Given the description of an element on the screen output the (x, y) to click on. 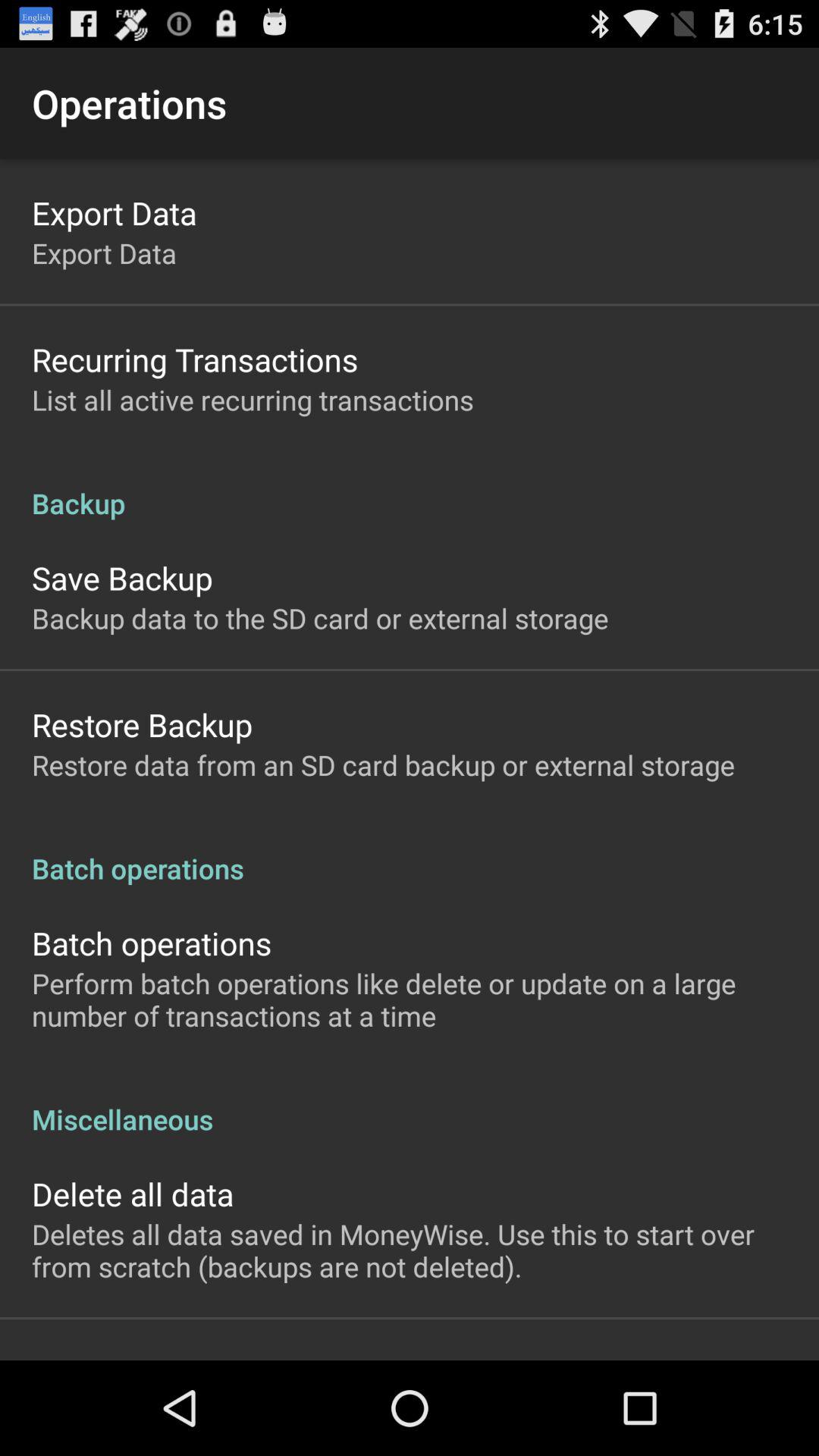
tap icon below the recurring transactions (252, 399)
